Given the description of an element on the screen output the (x, y) to click on. 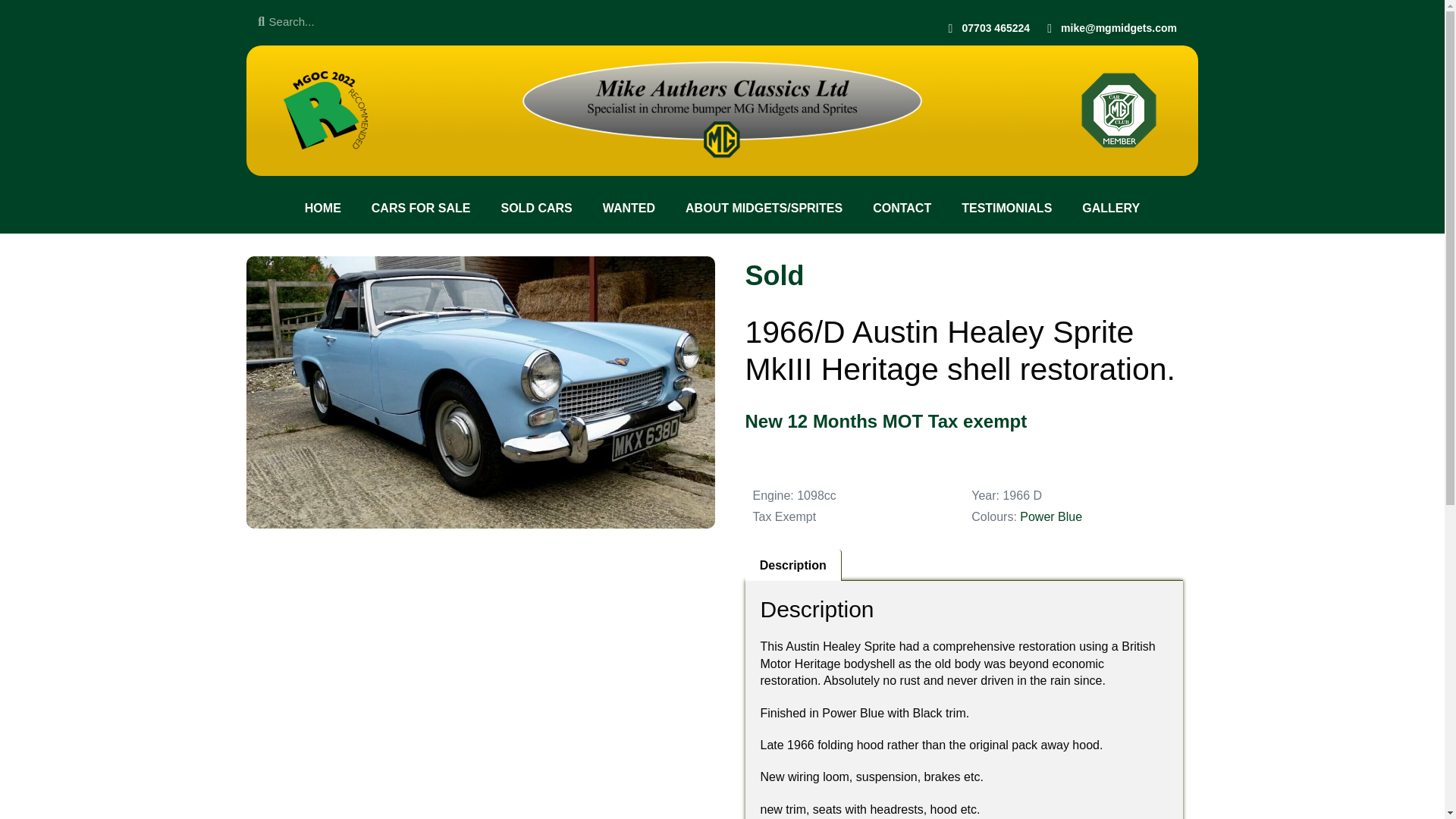
SOLD CARS (535, 208)
GALLERY (1110, 208)
HOME (322, 208)
CONTACT (901, 208)
CARS FOR SALE (421, 208)
WANTED (628, 208)
TESTIMONIALS (1006, 208)
TMS Logo 2018 (1118, 110)
07703 465224 (986, 28)
image0 (325, 110)
